Given the description of an element on the screen output the (x, y) to click on. 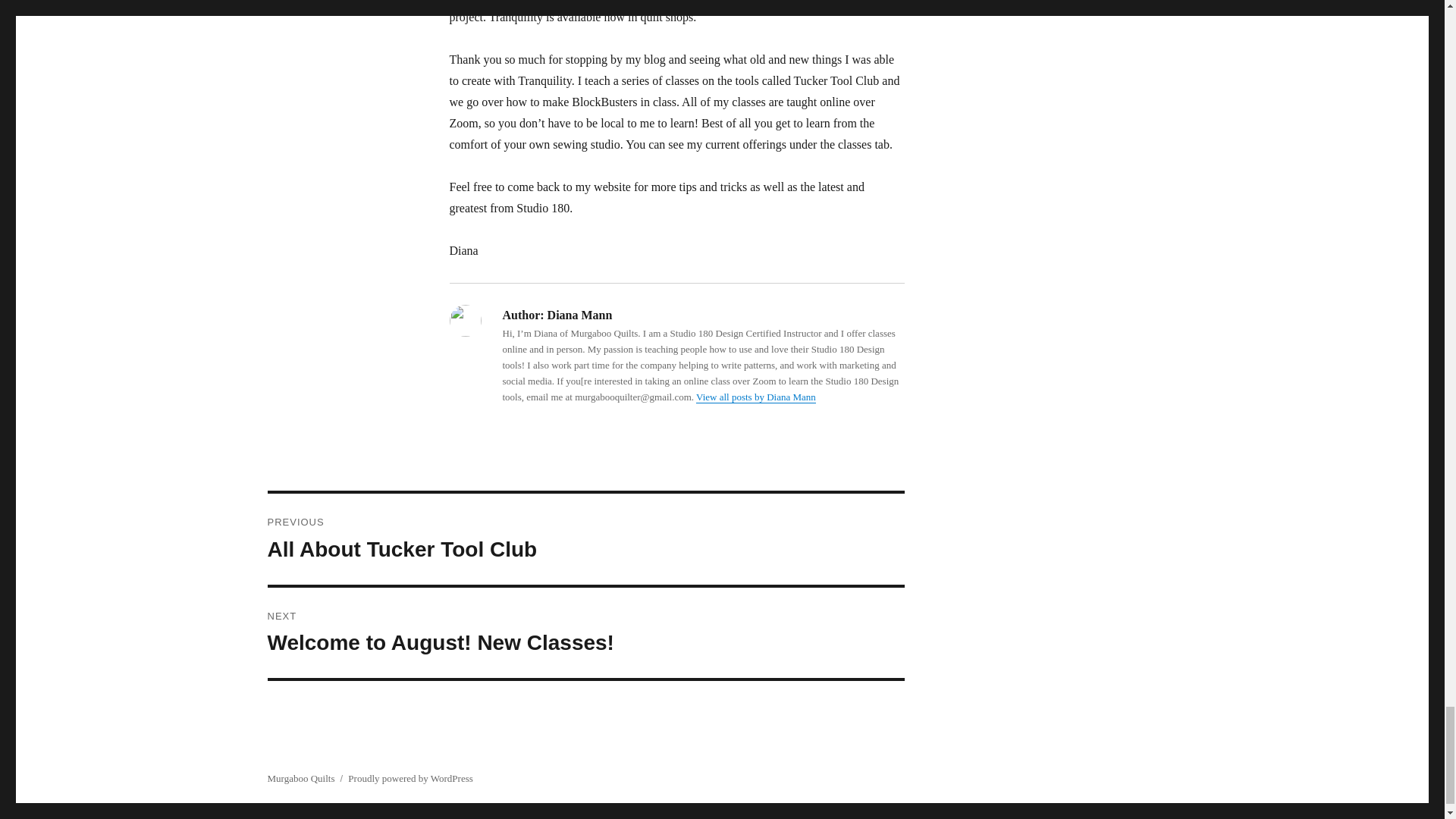
Murgaboo Quilts (300, 778)
View all posts by Diana Mann (755, 396)
